Given the description of an element on the screen output the (x, y) to click on. 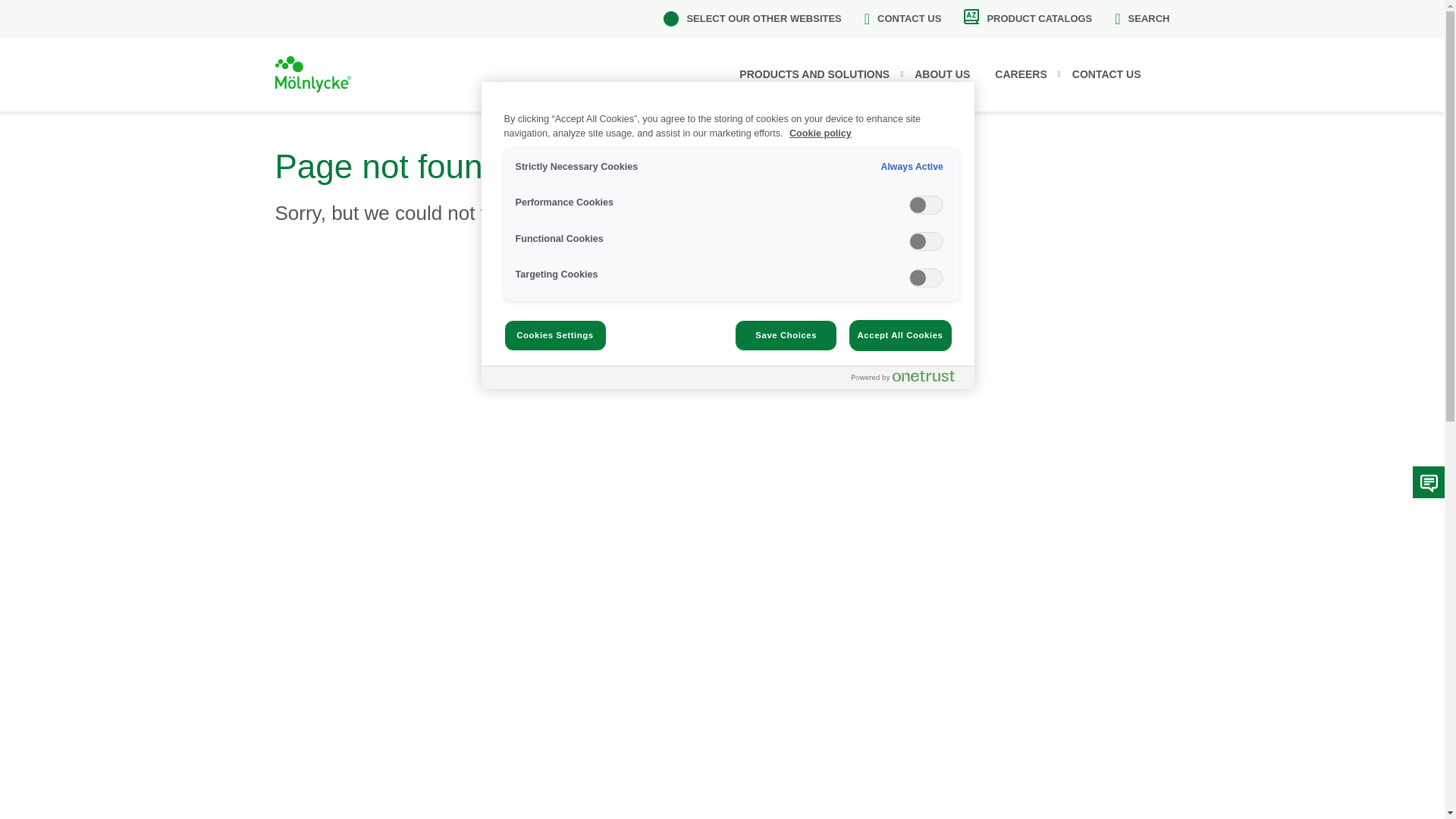
SELECT OUR OTHER WEBSITES (752, 18)
SEARCH (1142, 18)
CONTACT US (1114, 74)
ABOUT US (951, 74)
PRODUCT CATALOGS (1027, 18)
CONTACT US (903, 18)
CAREERS (1029, 74)
Powered by OneTrust Opens in a new Tab (901, 376)
